Given the description of an element on the screen output the (x, y) to click on. 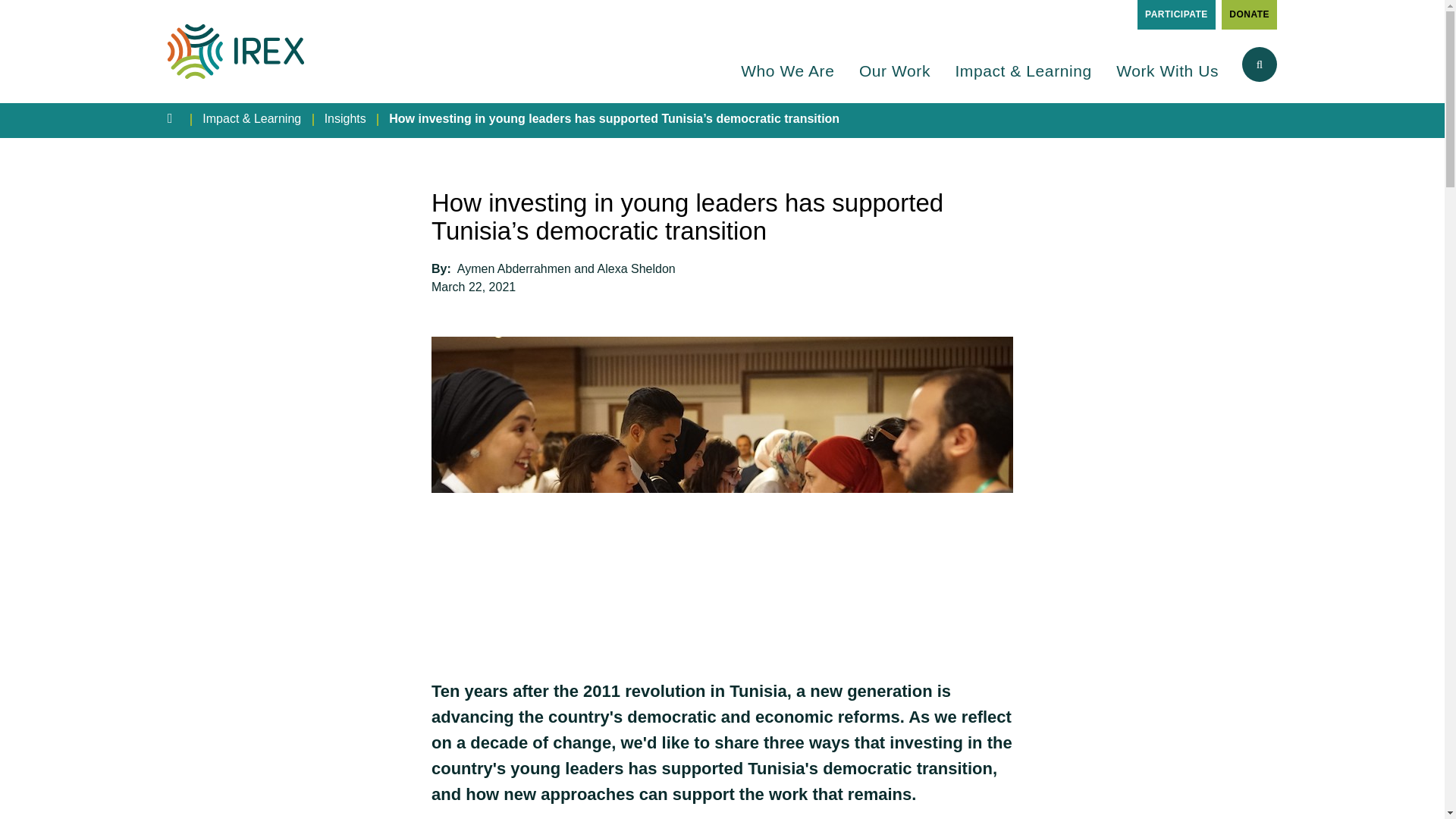
Our Work (894, 80)
DONATE (1248, 14)
Who We Are (787, 80)
PARTICIPATE (1176, 14)
Search (1237, 138)
Open search interface (1258, 63)
Work With Us (1167, 80)
